Given the description of an element on the screen output the (x, y) to click on. 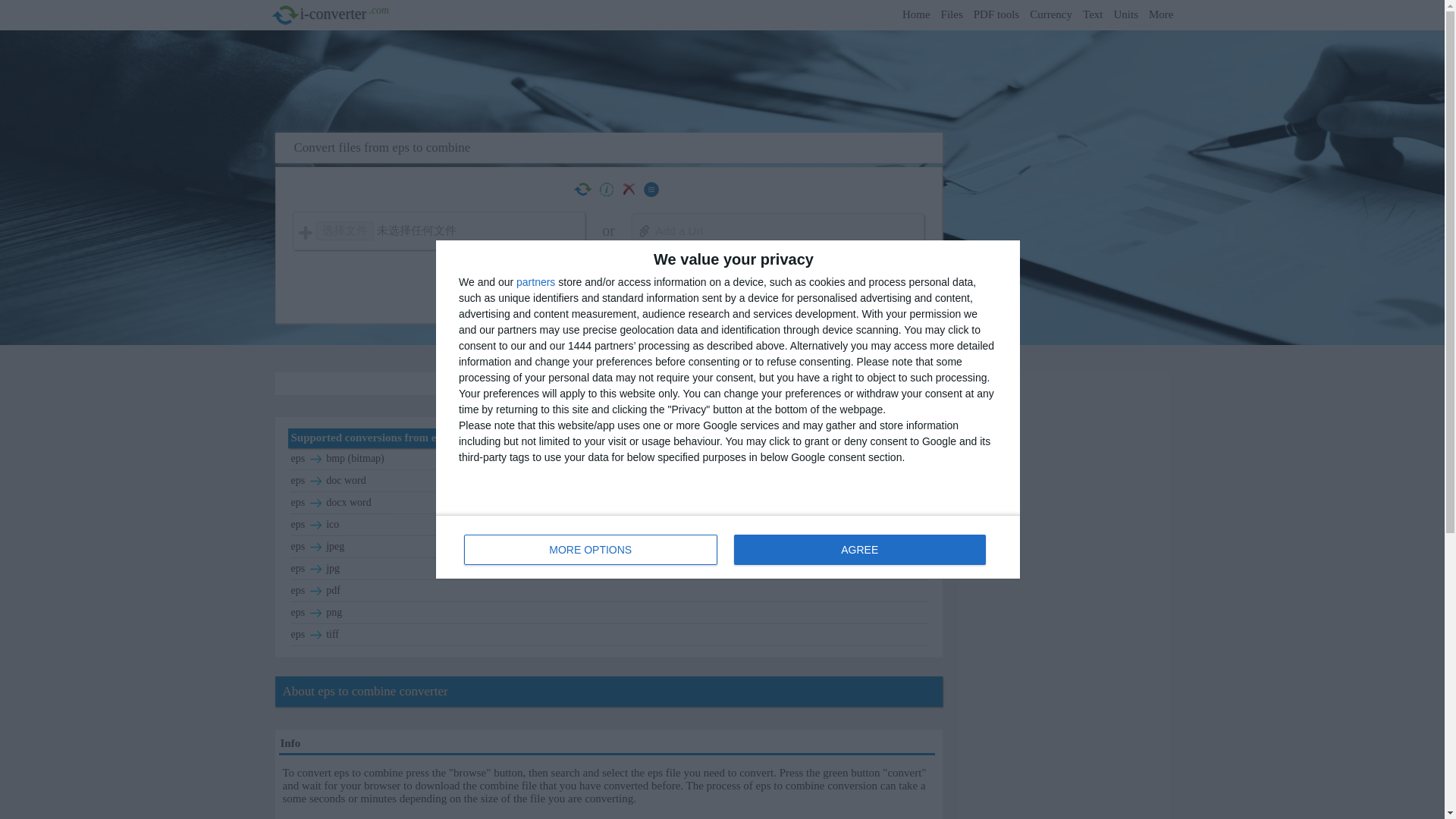
Reverse (582, 189)
Convert (776, 280)
Text (1092, 14)
MORE OPTIONS (590, 549)
AGREE (859, 549)
PDF tools (727, 546)
More (996, 14)
i-converter.com (1160, 14)
eps jpg (284, 15)
Conversion List (608, 568)
Units (650, 189)
Files (1125, 14)
eps ico (951, 14)
Home (608, 524)
